Given the description of an element on the screen output the (x, y) to click on. 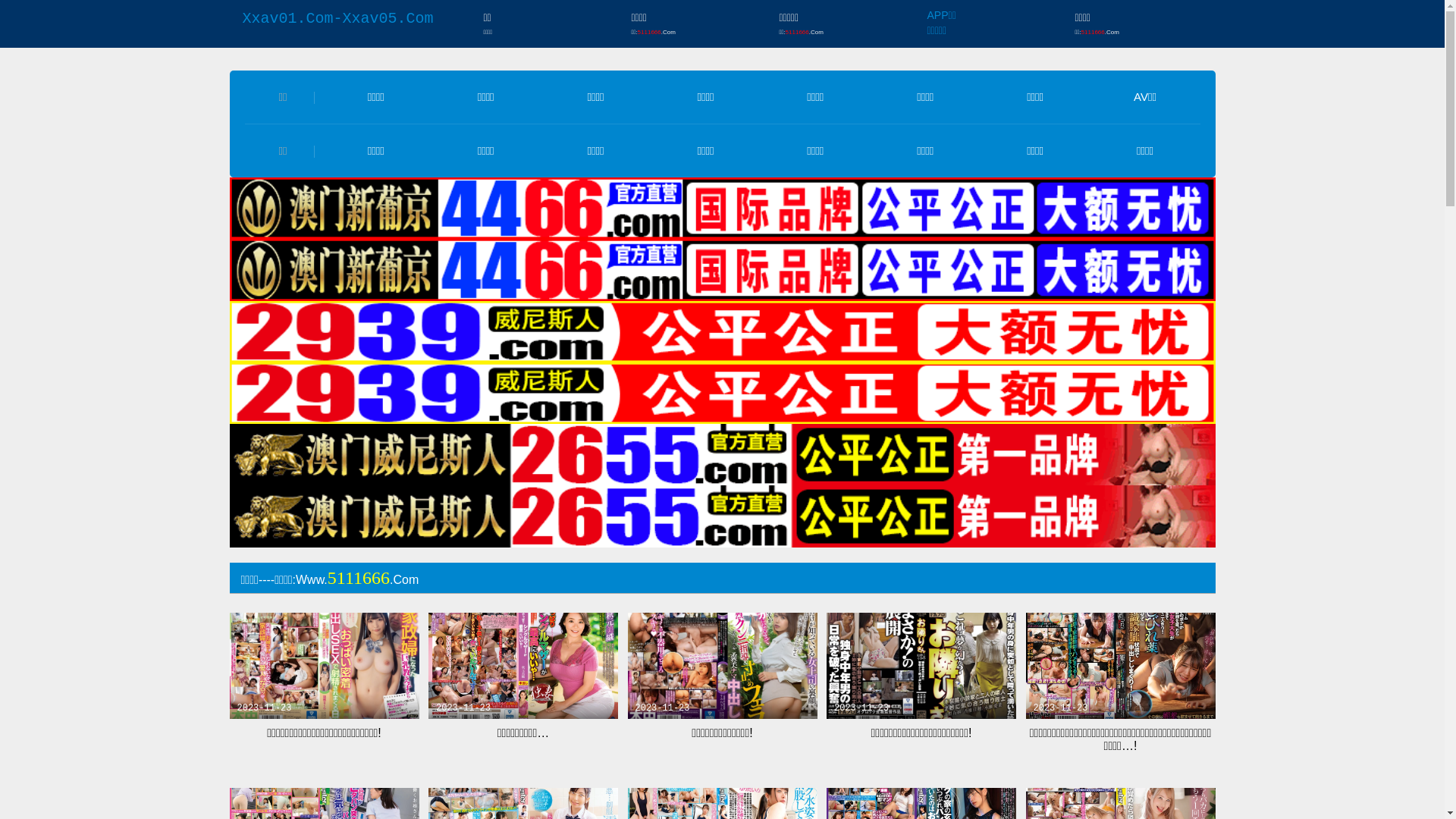
2023-11-23 Element type: text (722, 665)
2023-11-23 Element type: text (523, 665)
2023-11-23 Element type: text (1119, 665)
2023-11-23 Element type: text (323, 665)
2023-11-23 Element type: text (921, 665)
